Given the description of an element on the screen output the (x, y) to click on. 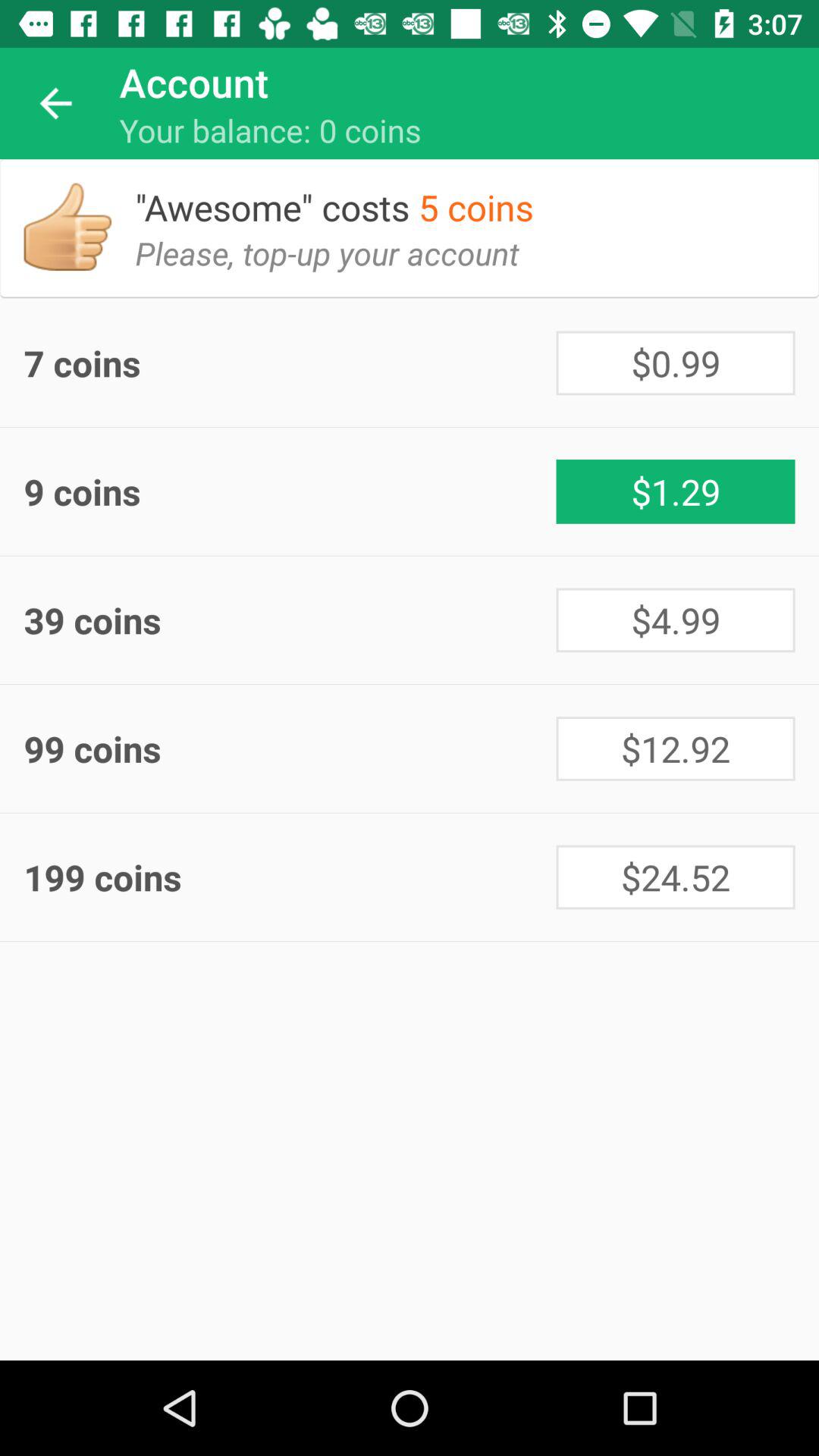
jump until 199 coins (289, 877)
